Given the description of an element on the screen output the (x, y) to click on. 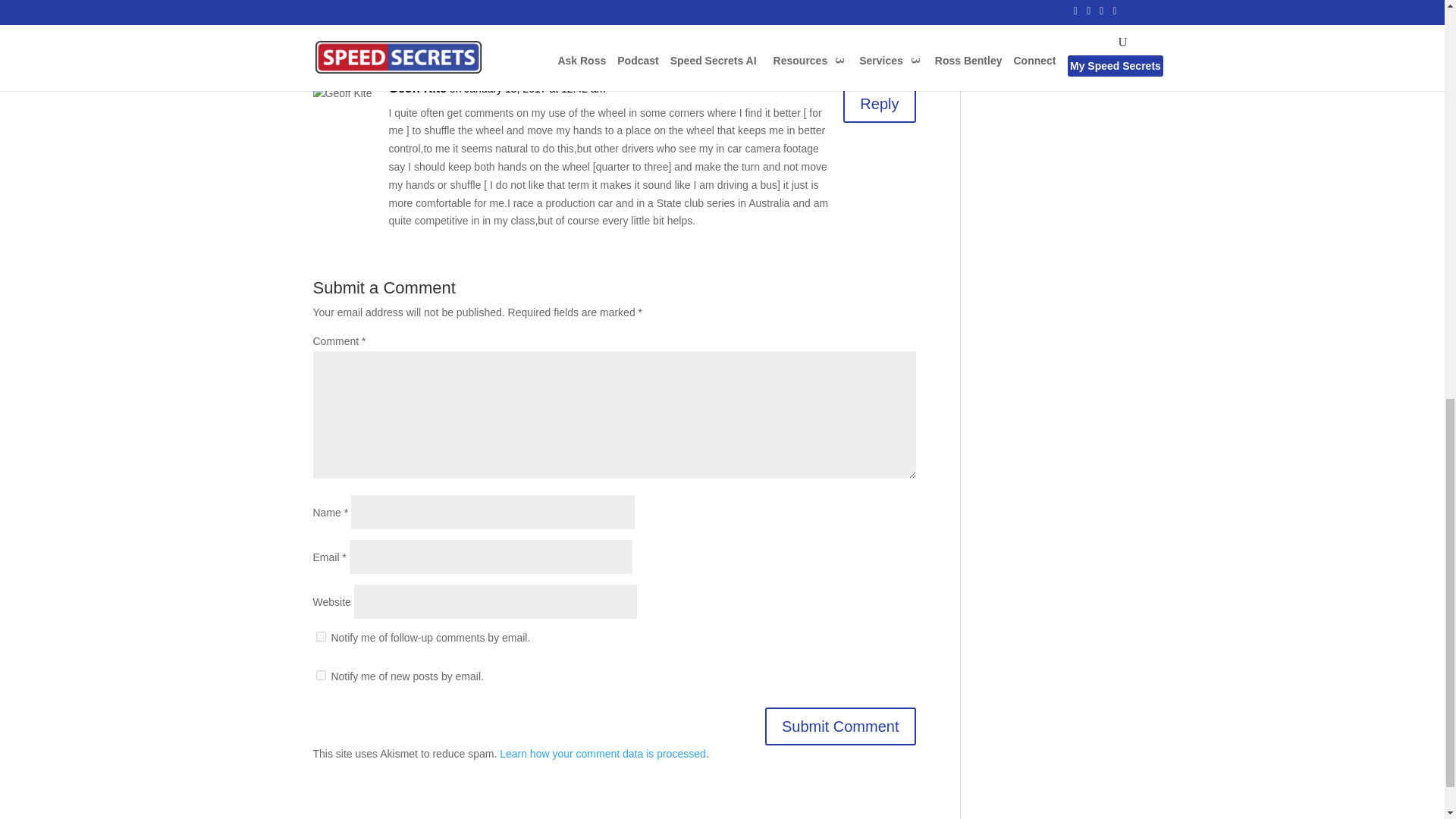
Submit Comment (840, 726)
subscribe (319, 635)
Reply (879, 103)
Learn how your comment data is processed (602, 753)
Submit Comment (840, 726)
subscribe (319, 675)
